Given the description of an element on the screen output the (x, y) to click on. 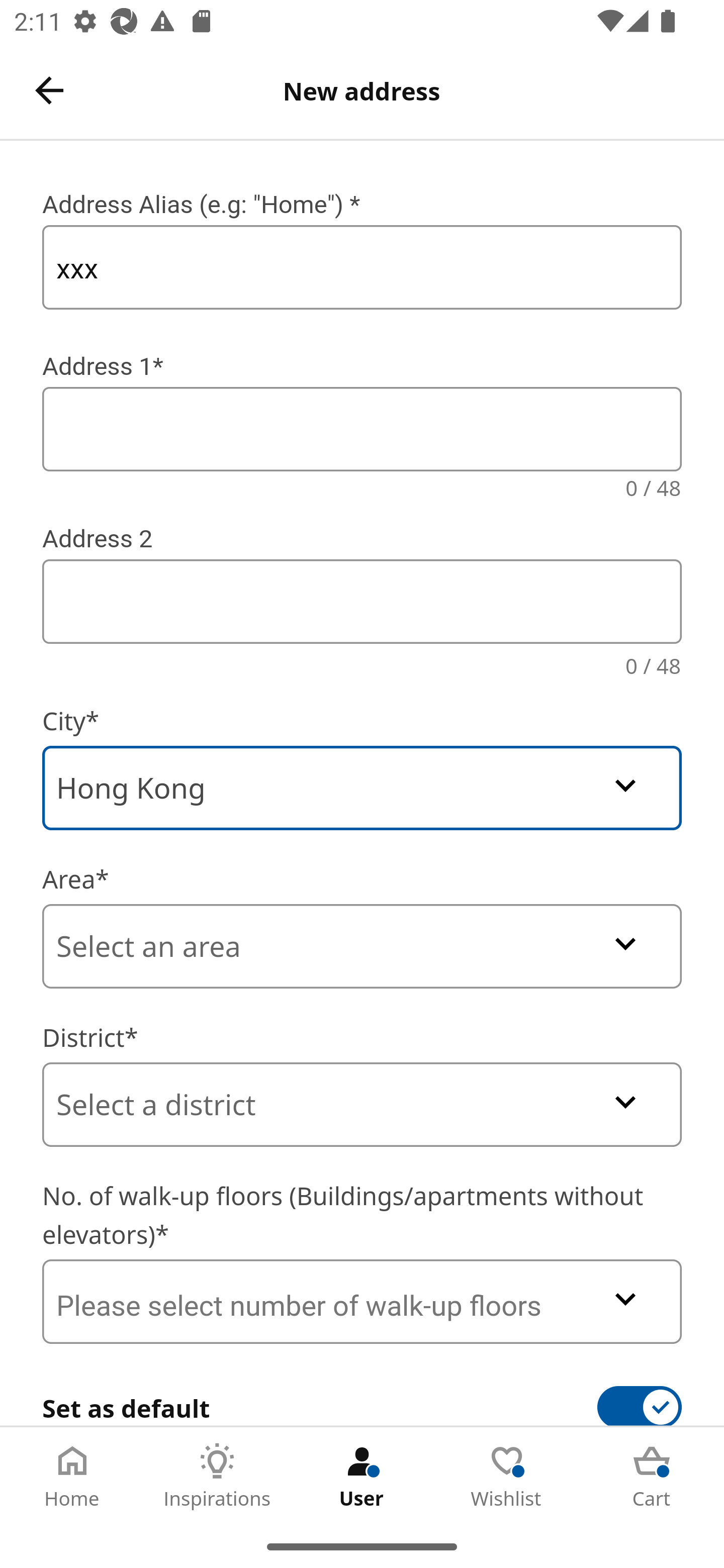
xxx (361, 266)
Hong Kong (361, 787)
Select an area (361, 945)
Please select number of walk-up floors (361, 1301)
Home
Tab 1 of 5 (72, 1476)
Inspirations
Tab 2 of 5 (216, 1476)
User
Tab 3 of 5 (361, 1476)
Wishlist
Tab 4 of 5 (506, 1476)
Cart
Tab 5 of 5 (651, 1476)
